Given the description of an element on the screen output the (x, y) to click on. 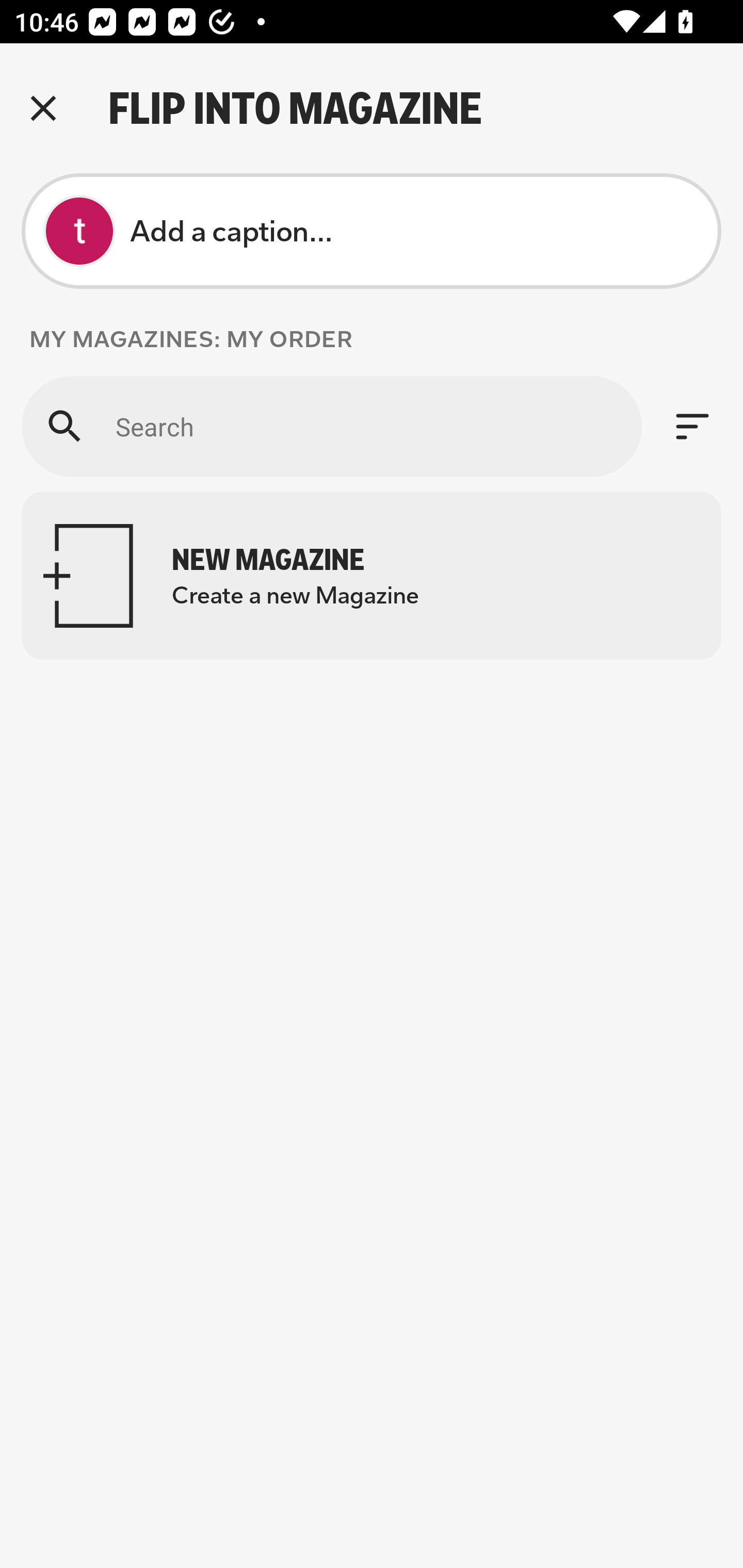
test appium Add a caption… (371, 231)
Search (331, 426)
NEW MAGAZINE Create a new Magazine (371, 575)
